Given the description of an element on the screen output the (x, y) to click on. 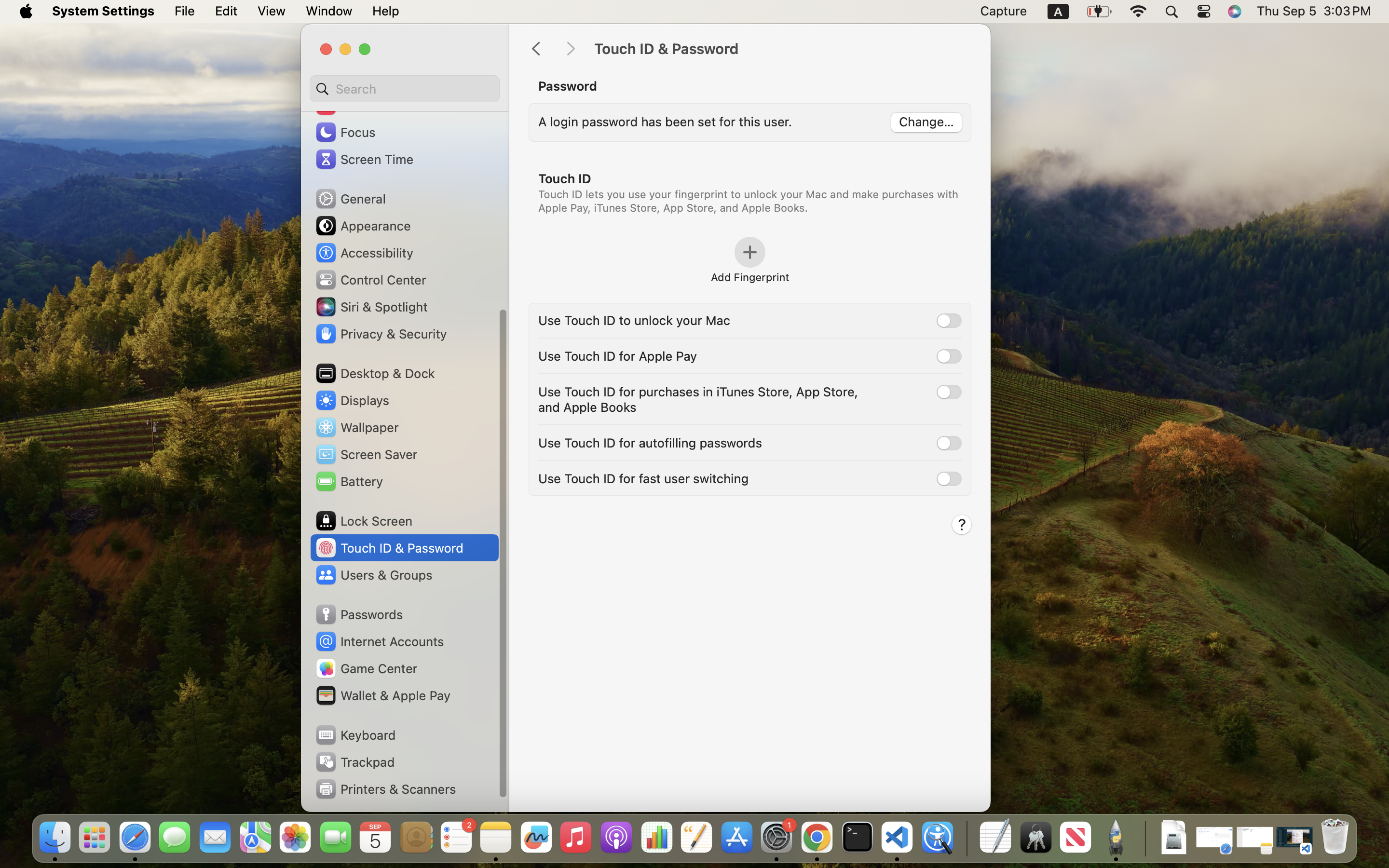
Focus Element type: AXStaticText (344, 131)
Screen Time Element type: AXStaticText (363, 158)
Control Center Element type: AXStaticText (370, 279)
Battery Element type: AXStaticText (348, 480)
